Given the description of an element on the screen output the (x, y) to click on. 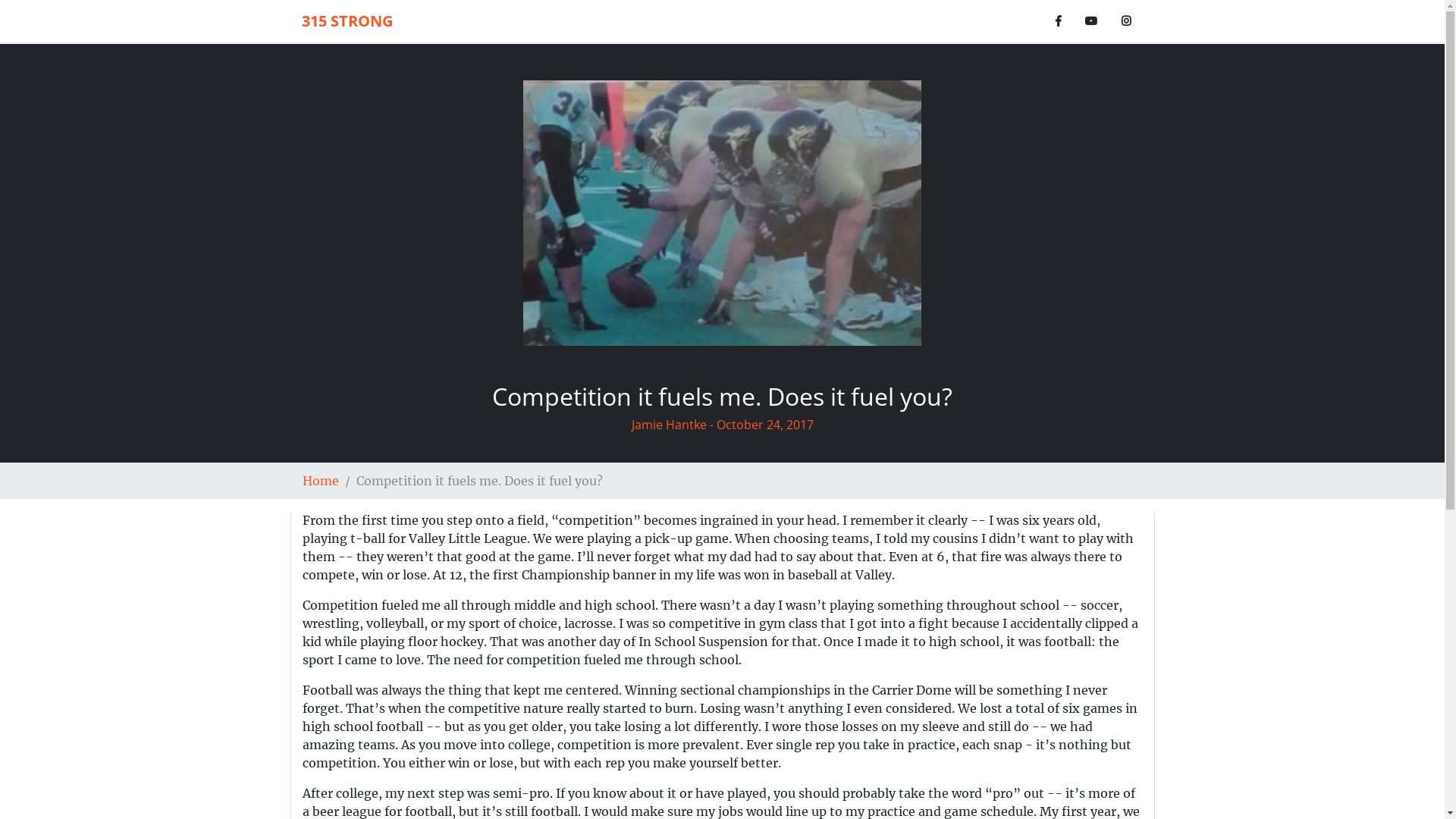
315 STRONG Element type: text (346, 21)
Home Element type: text (319, 480)
